Given the description of an element on the screen output the (x, y) to click on. 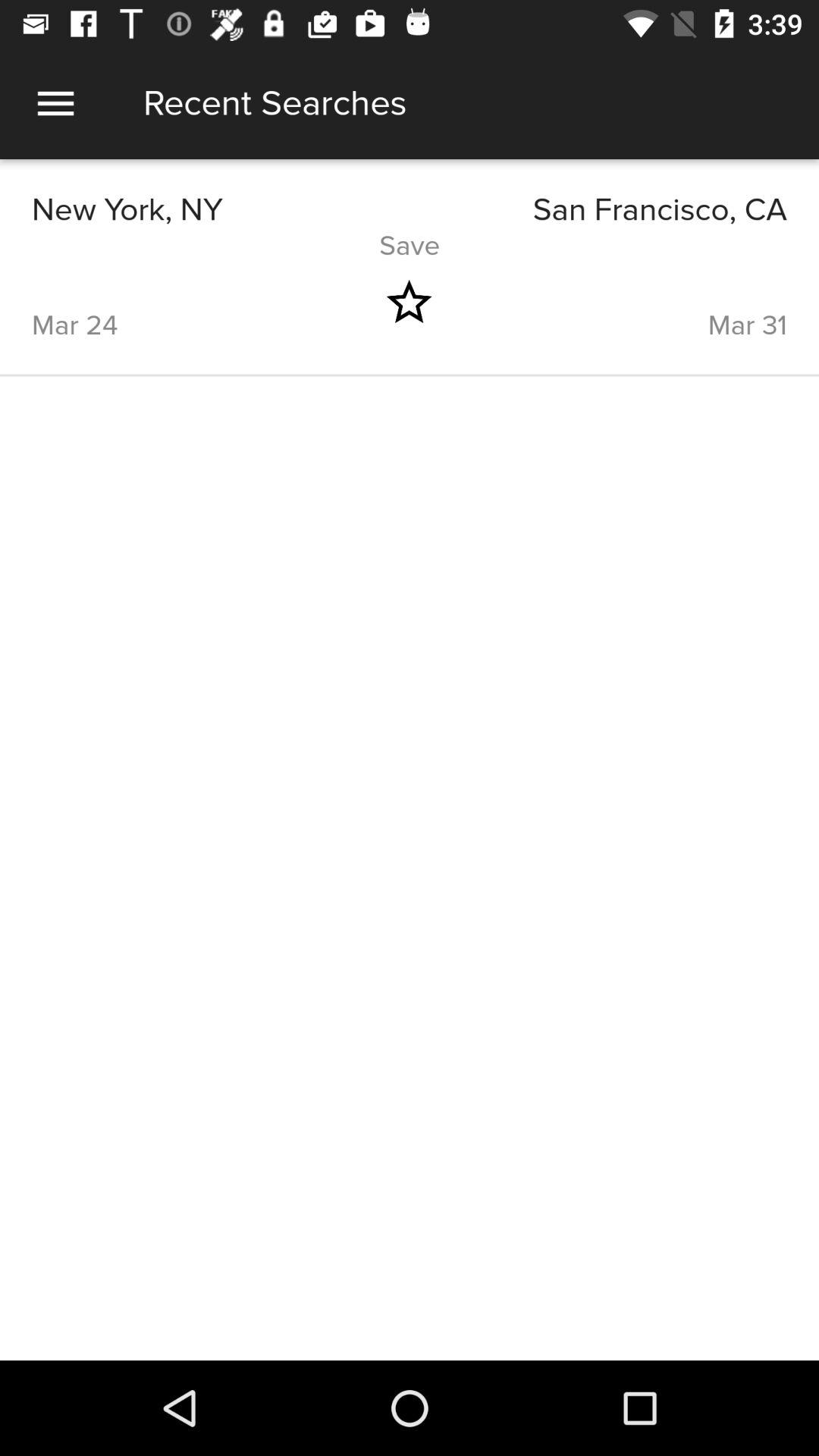
click icon next to the new york, ny (598, 210)
